Given the description of an element on the screen output the (x, y) to click on. 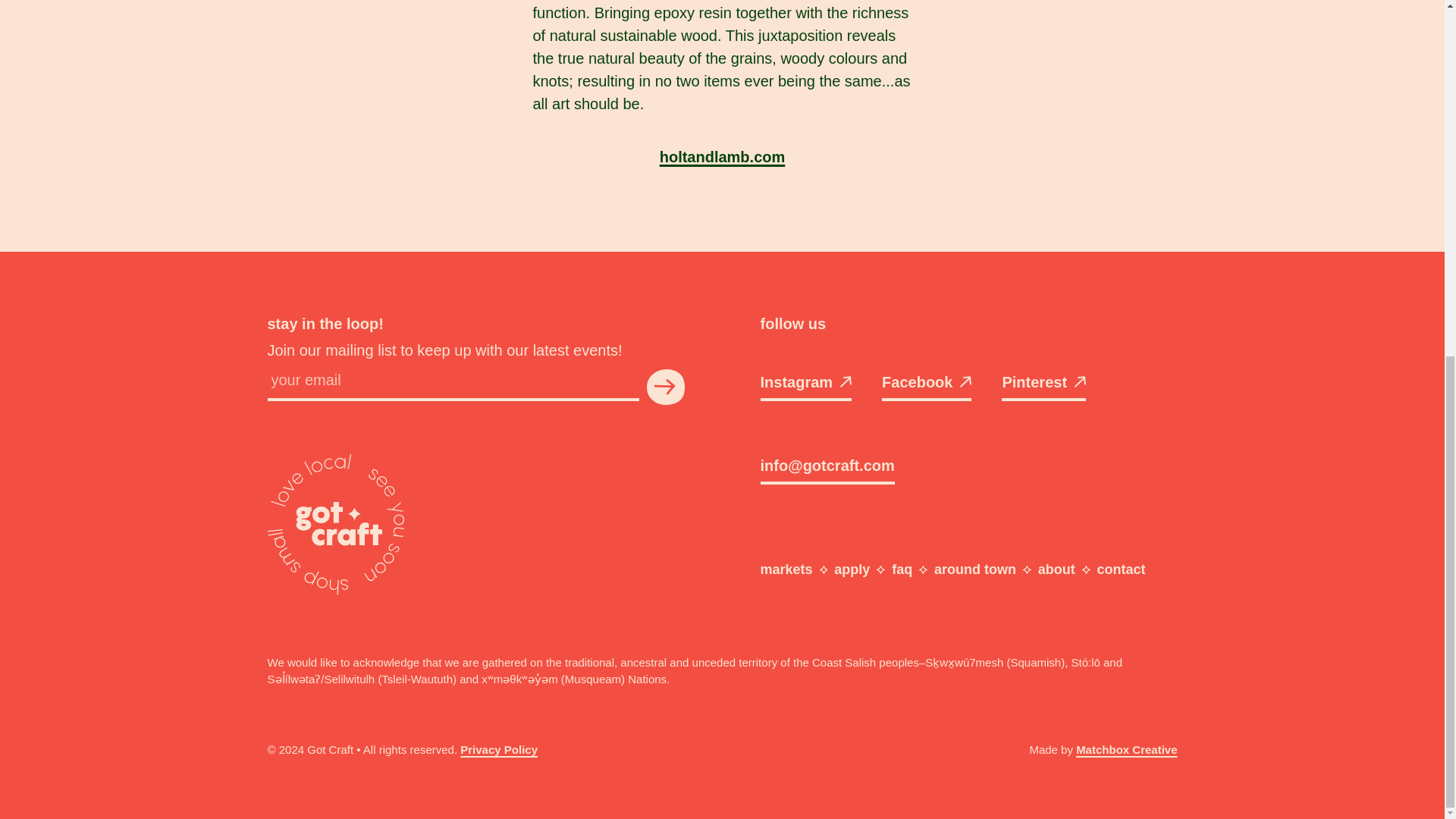
Matchbox Creative (1125, 748)
Instagram (805, 386)
around town (975, 569)
Facebook (926, 386)
holtandlamb.com (722, 156)
about (1056, 569)
apply (851, 569)
contact (1121, 569)
Pinterest (1043, 386)
Privacy Policy (498, 748)
